Given the description of an element on the screen output the (x, y) to click on. 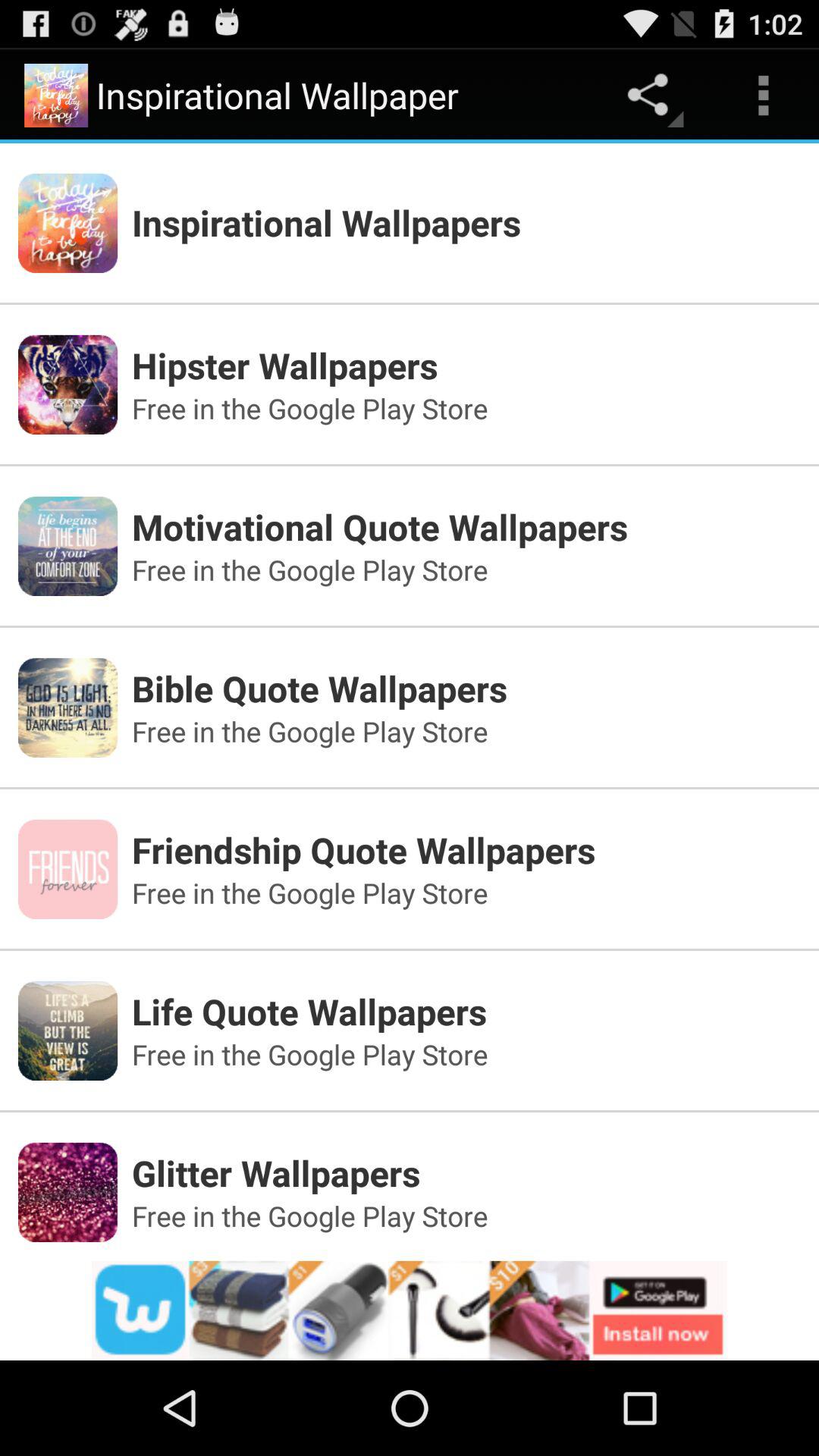
go to advertisement (409, 1310)
